Given the description of an element on the screen output the (x, y) to click on. 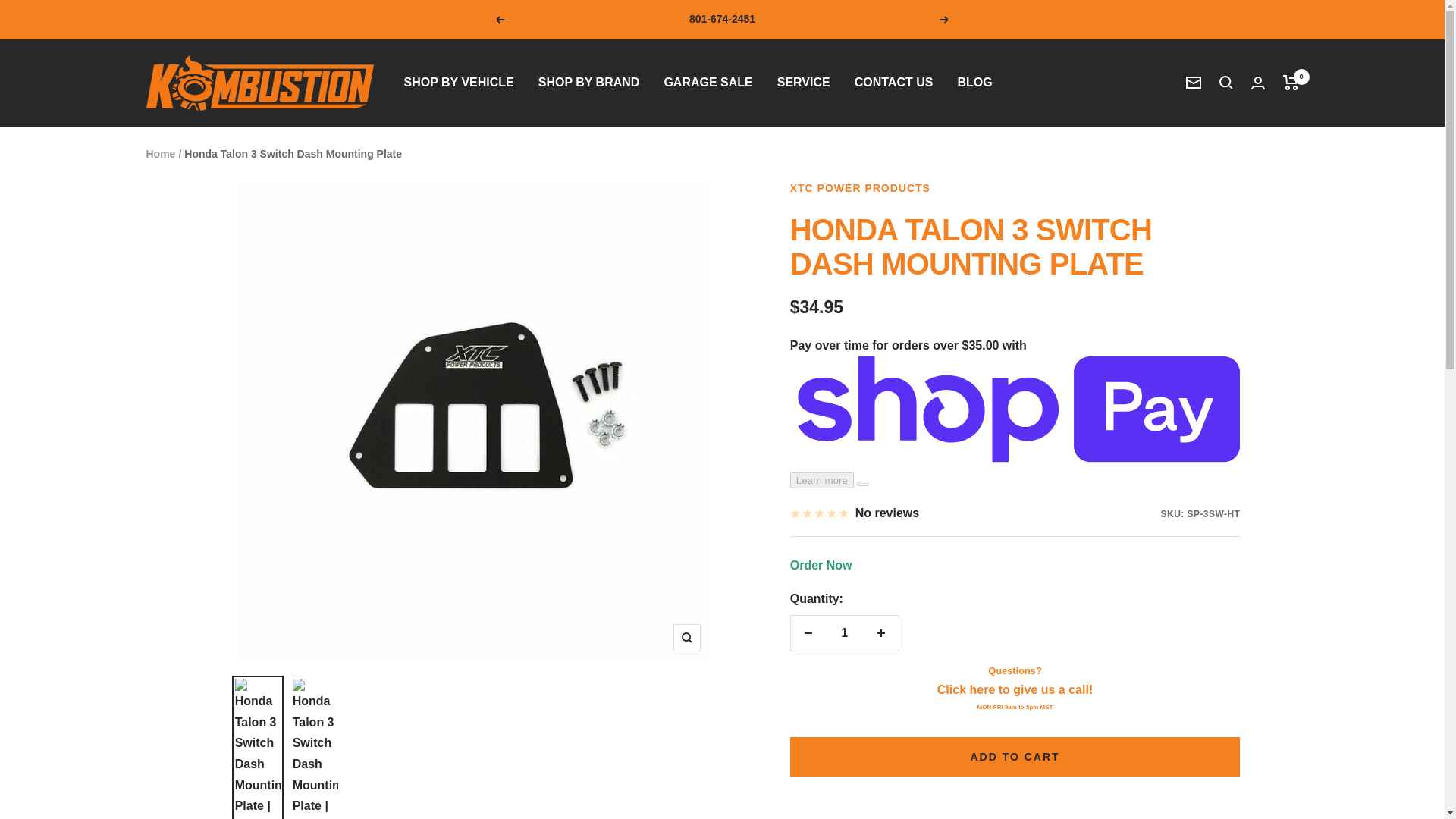
Home (159, 153)
SERVICE (803, 82)
Previous (499, 19)
CONTACT US (893, 82)
Kombustion Motorsports (258, 82)
No reviews (854, 513)
Newsletter (1193, 82)
SHOP BY BRAND (589, 82)
0 (1290, 82)
SHOP BY VEHICLE (458, 82)
1 (844, 632)
Next (944, 19)
BLOG (973, 82)
Zoom (686, 637)
